Given the description of an element on the screen output the (x, y) to click on. 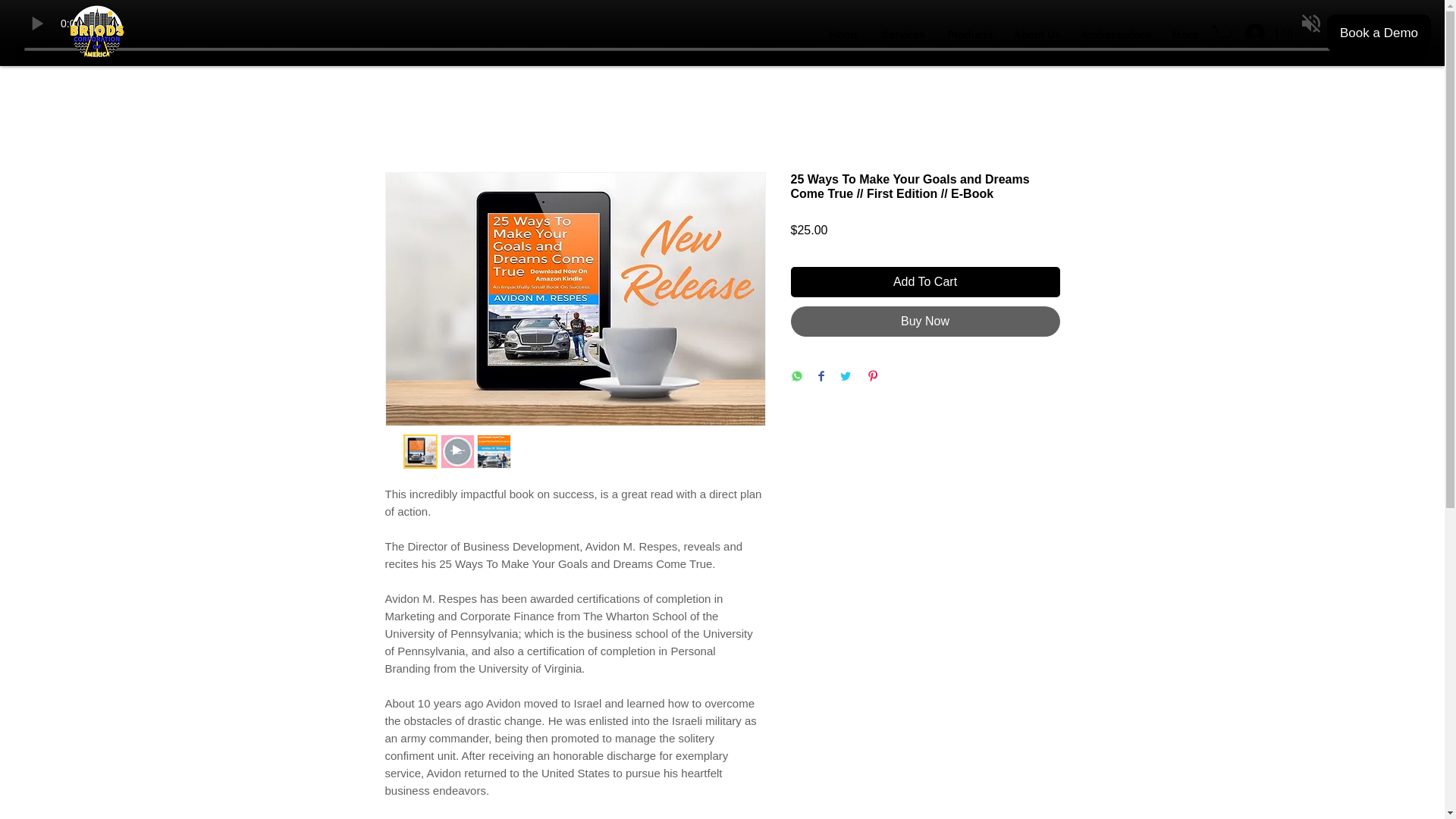
Home (844, 35)
Book a Demo (1378, 33)
About Us (1035, 35)
Log In (1275, 32)
Products (969, 35)
Services (903, 35)
Add To Cart (924, 281)
Buy Now (924, 321)
Ambassadors (1114, 35)
